Given the description of an element on the screen output the (x, y) to click on. 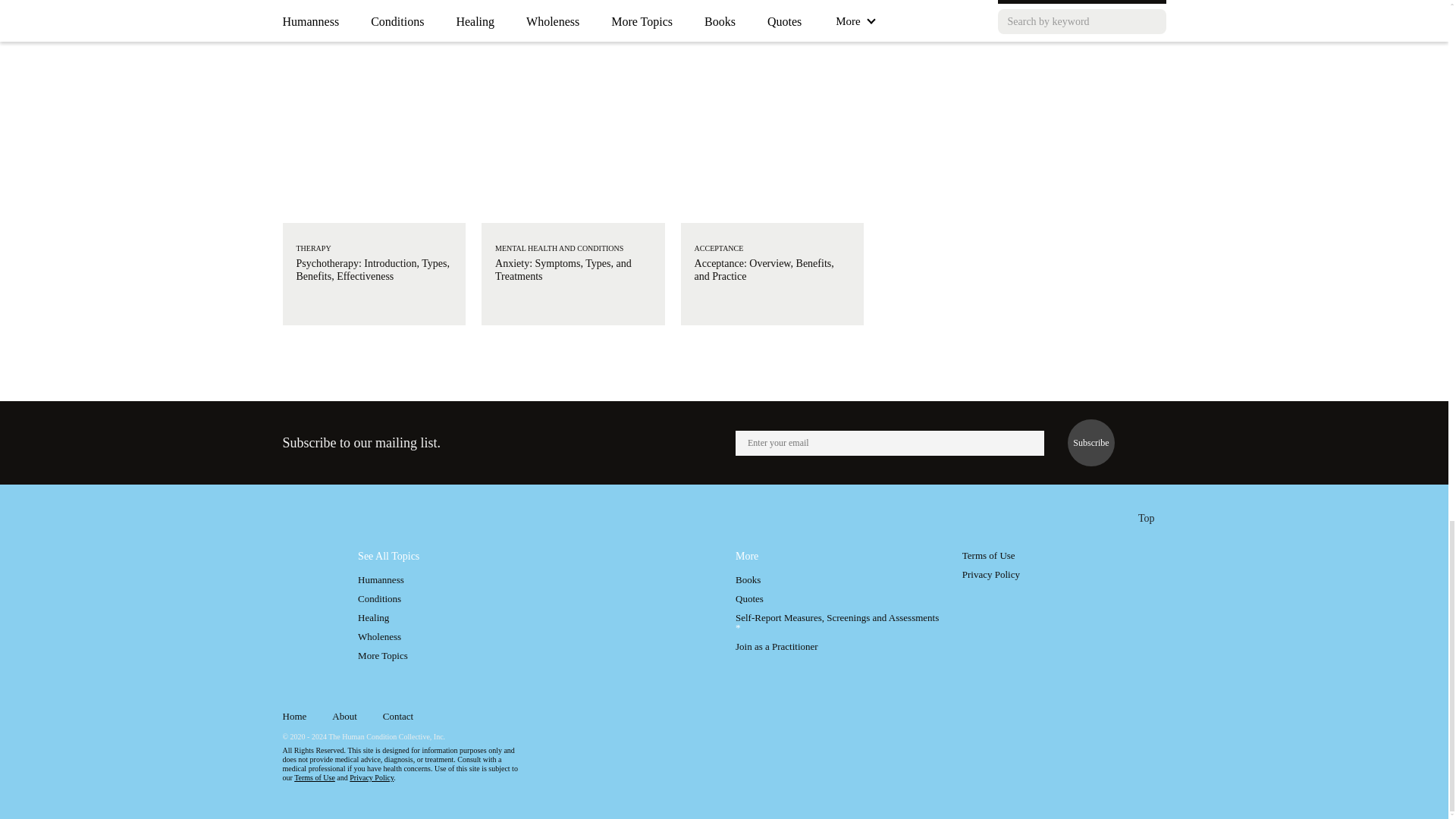
Instagram (1120, 718)
Subscribe (1091, 442)
Instagram (1120, 717)
